Given the description of an element on the screen output the (x, y) to click on. 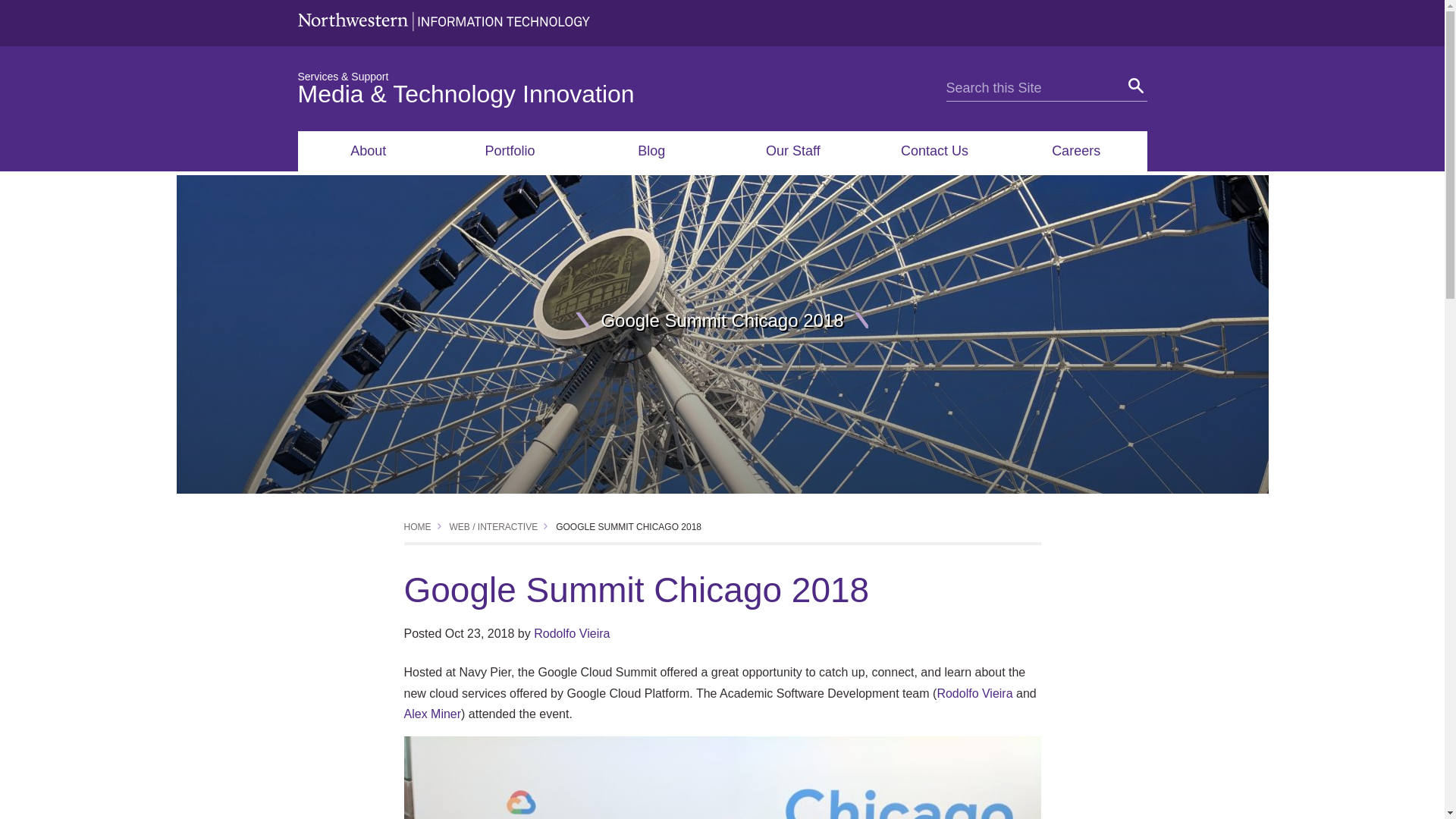
Blog (651, 151)
Home (416, 526)
Rodolfo Vieira (572, 633)
Our Staff (792, 151)
About (368, 151)
Google Summit Chicago 2018 (628, 526)
HOME (416, 526)
Portfolio (509, 151)
Contact Us (934, 151)
Alex Miner (432, 713)
Careers (1076, 151)
Rodolfo Vieira (973, 693)
